Given the description of an element on the screen output the (x, y) to click on. 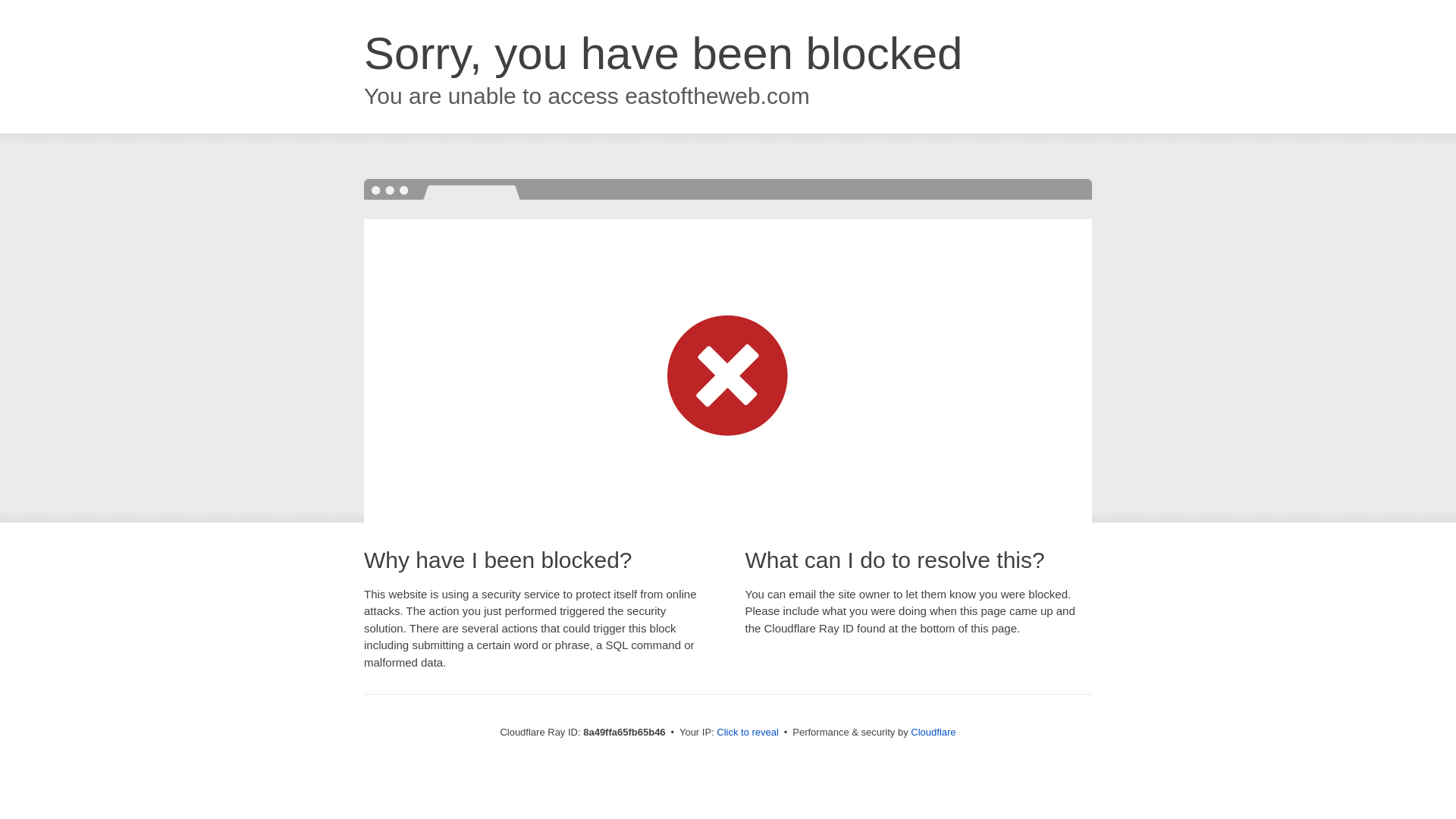
Cloudflare (933, 731)
Click to reveal (747, 732)
